Given the description of an element on the screen output the (x, y) to click on. 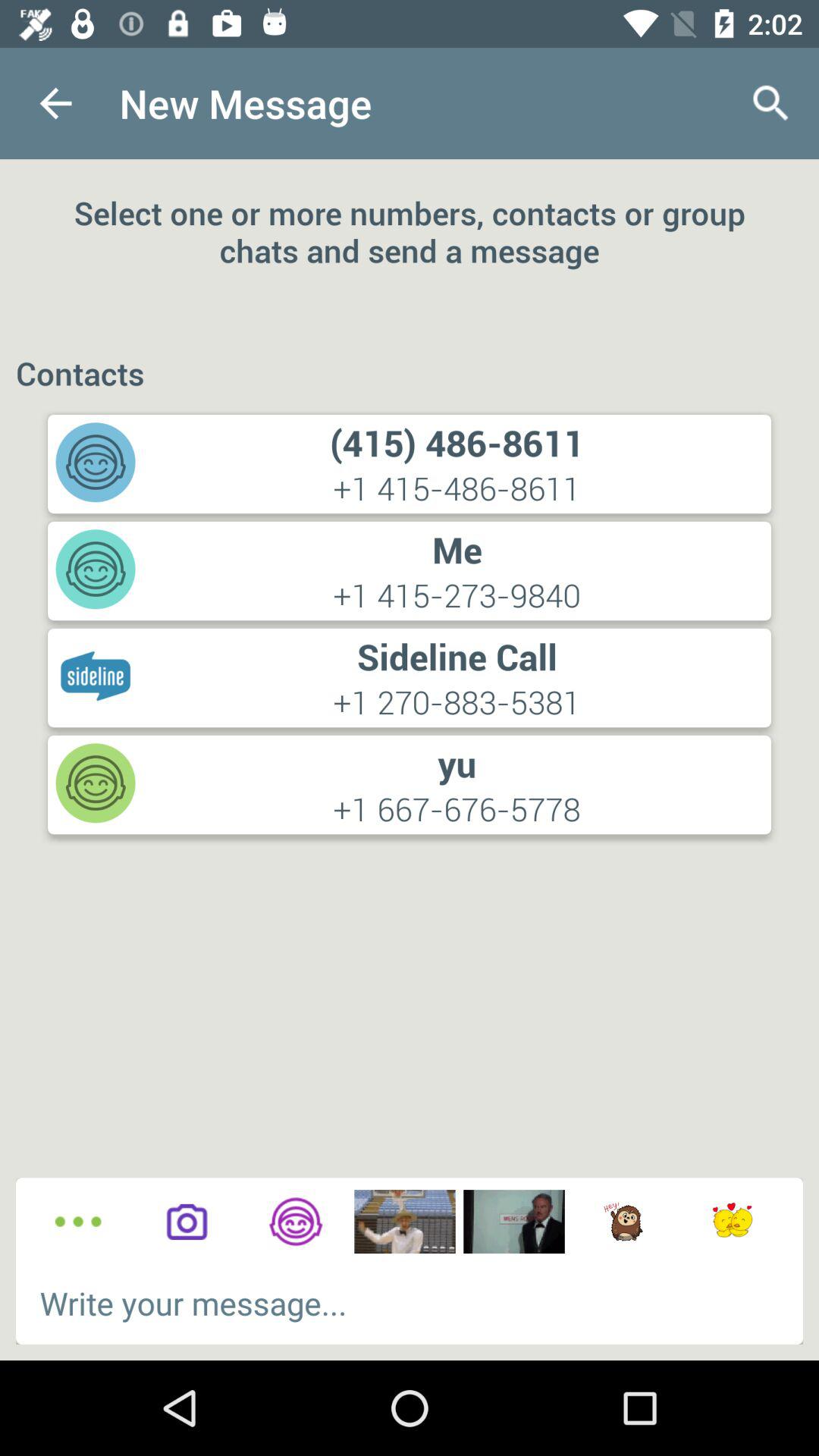
to see other options (77, 1221)
